Given the description of an element on the screen output the (x, y) to click on. 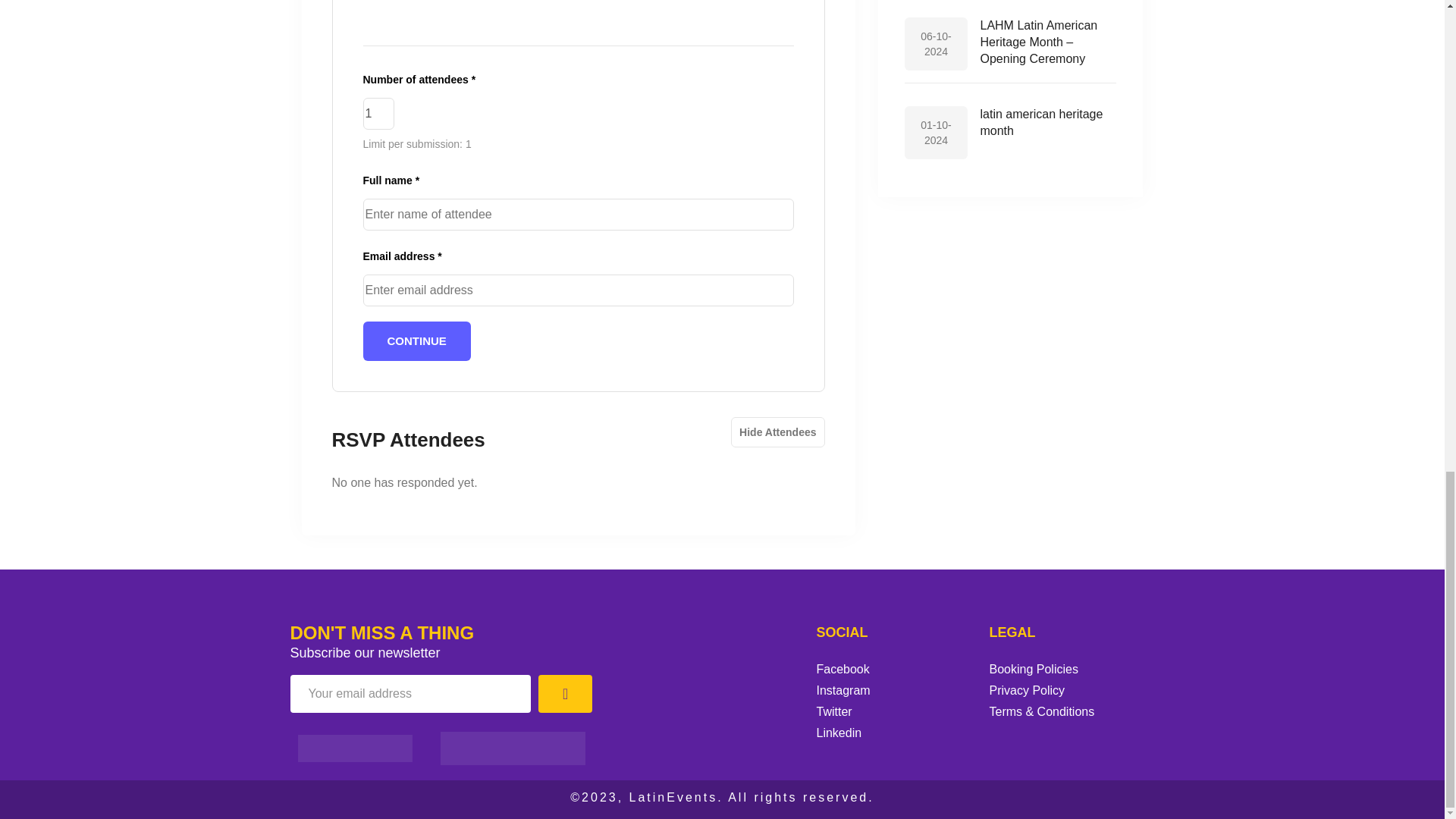
Booking Policies (1067, 669)
1 (377, 113)
Hide Attendees (777, 431)
CONTINUE (416, 341)
Privacy Policy (1067, 690)
latin american heritage month (1040, 122)
Facebook (894, 669)
Linkedin (894, 732)
Instagram (894, 690)
